Given the description of an element on the screen output the (x, y) to click on. 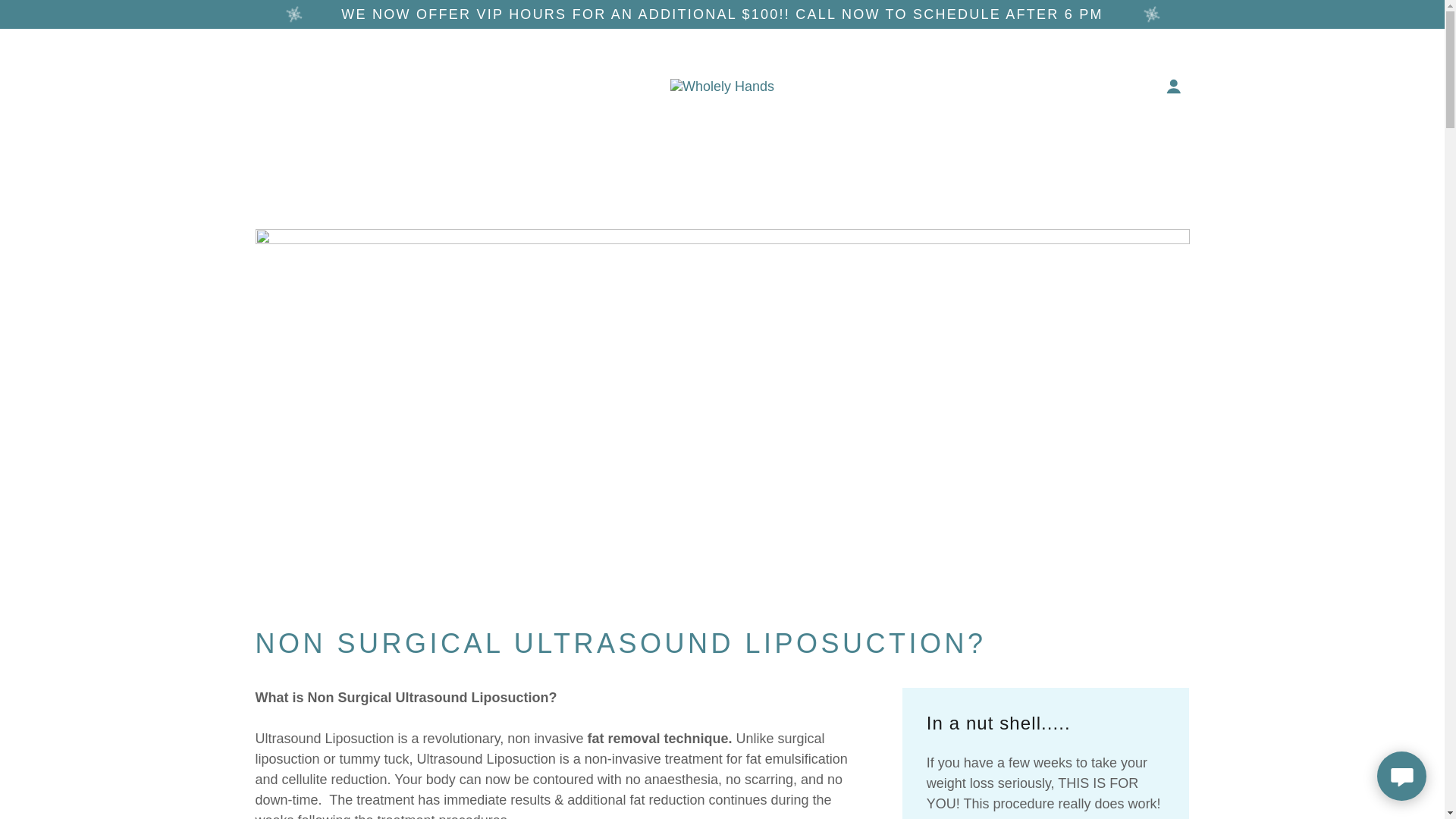
Wholely Hands (721, 85)
